Given the description of an element on the screen output the (x, y) to click on. 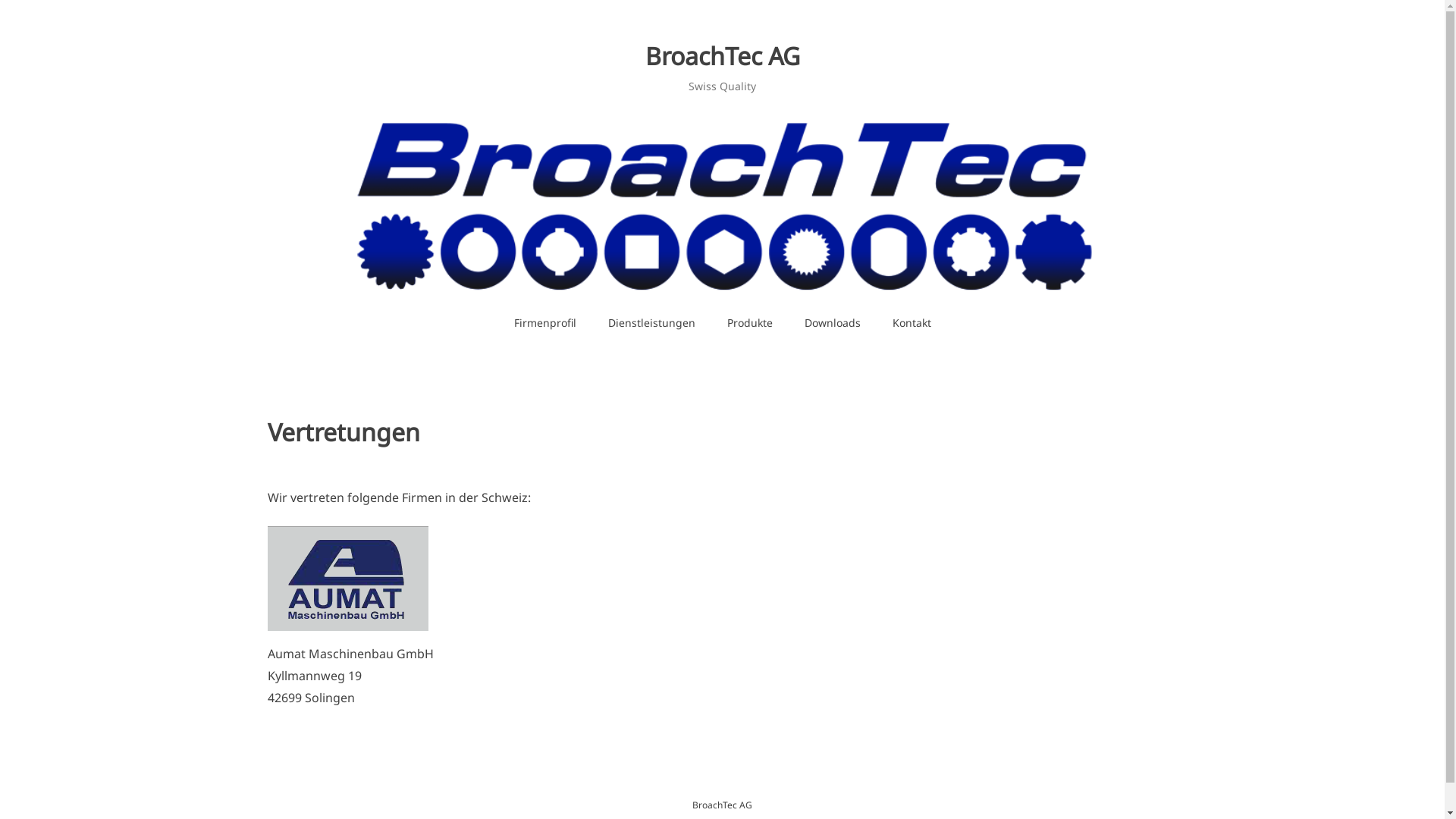
Firmenprofil Element type: text (544, 322)
Dienstleistungen Element type: text (650, 322)
Kontakt Element type: text (911, 322)
Produkte Element type: text (749, 322)
BroachTec AG Element type: text (721, 55)
Downloads Element type: text (832, 322)
